Given the description of an element on the screen output the (x, y) to click on. 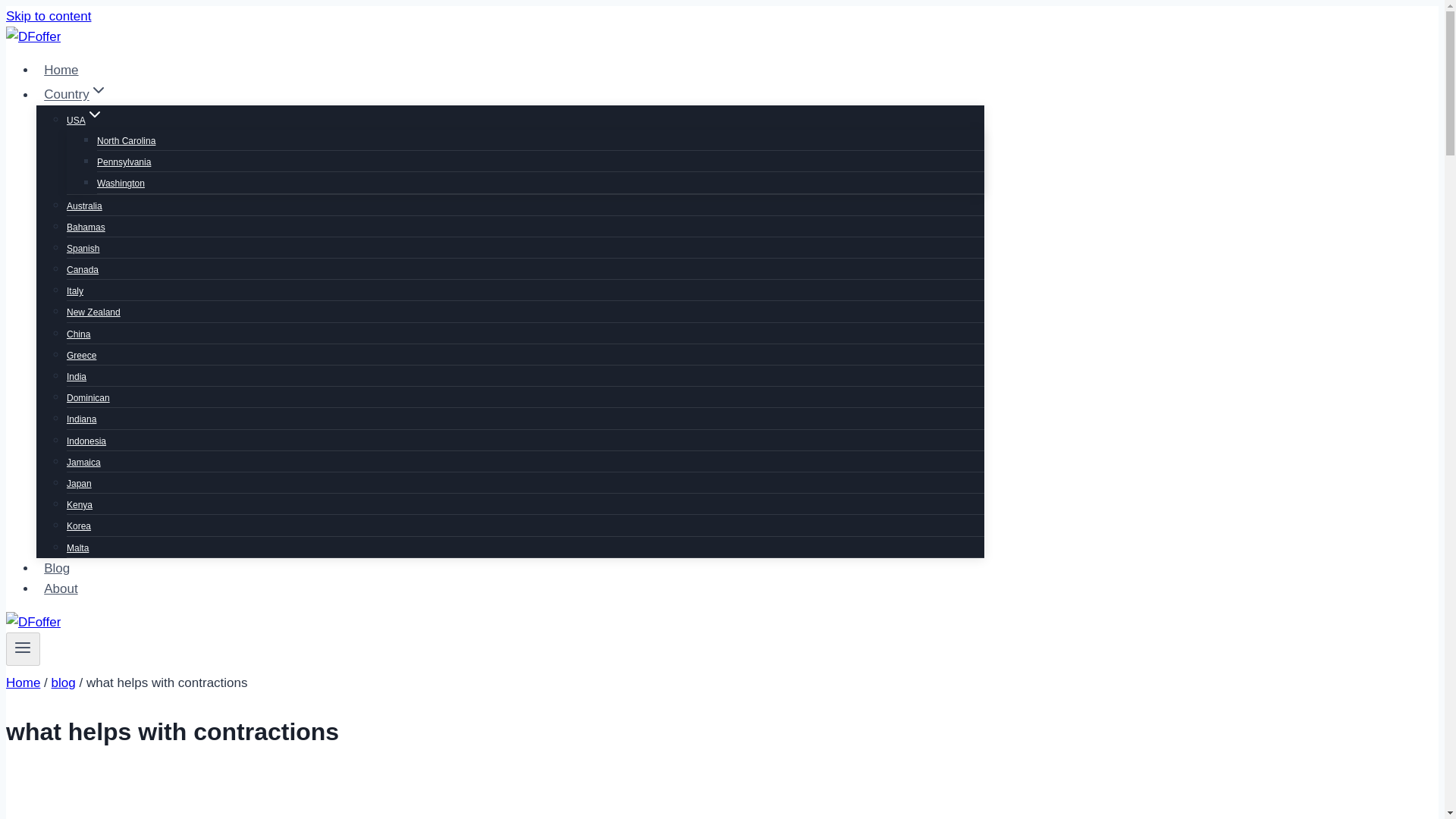
Skip to content (47, 16)
China (78, 334)
Australia (83, 205)
Spanish (82, 248)
Indonesia (86, 440)
Indiana (81, 419)
Toggle Menu (22, 648)
Blog (56, 568)
Dominican (88, 398)
Expand (97, 90)
Home (60, 70)
Canada (82, 269)
Malta (77, 547)
New Zealand (93, 312)
Home (22, 682)
